Given the description of an element on the screen output the (x, y) to click on. 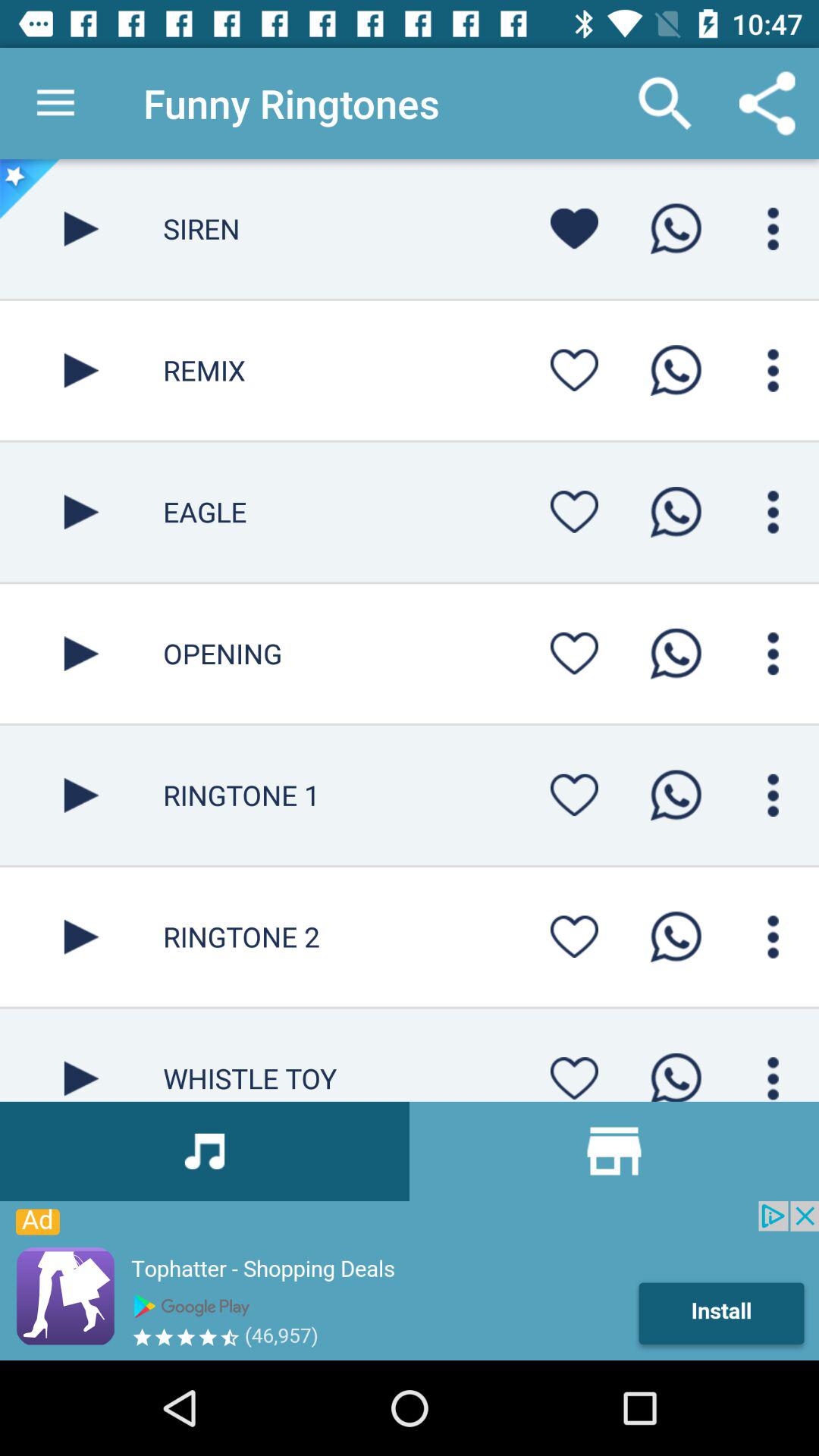
options and settings (773, 936)
